Given the description of an element on the screen output the (x, y) to click on. 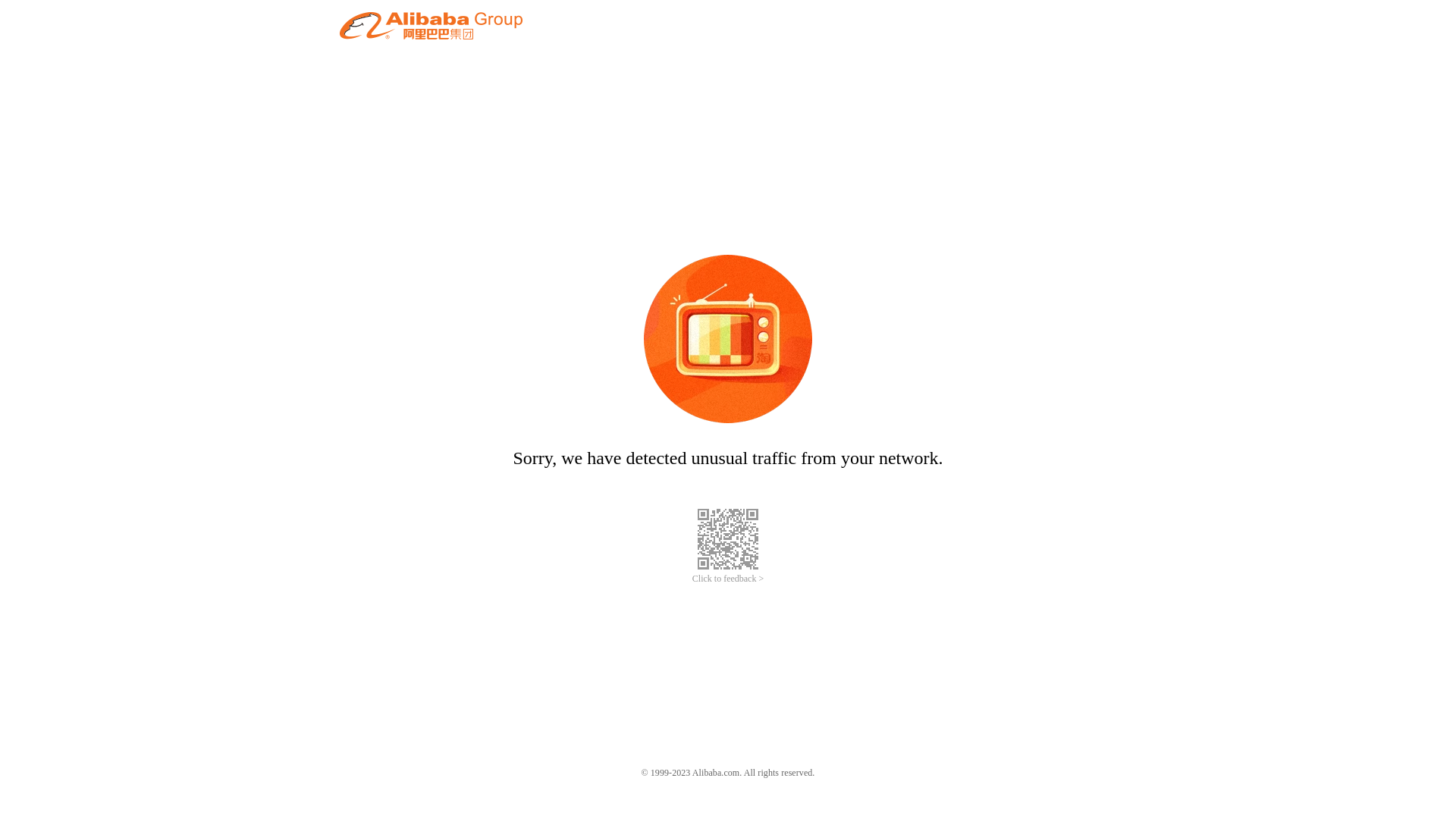
Click to feedback > Element type: text (727, 578)
